Given the description of an element on the screen output the (x, y) to click on. 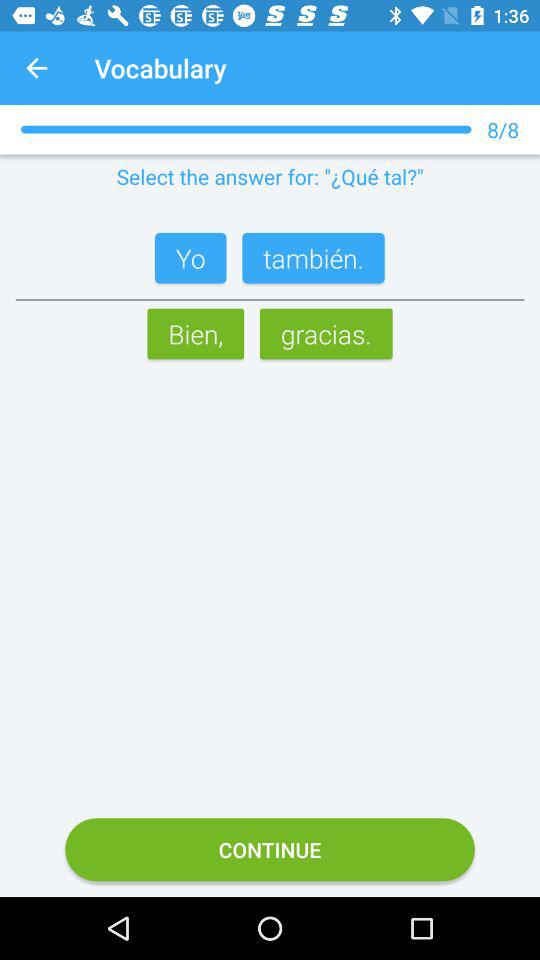
scroll to continue item (269, 849)
